Given the description of an element on the screen output the (x, y) to click on. 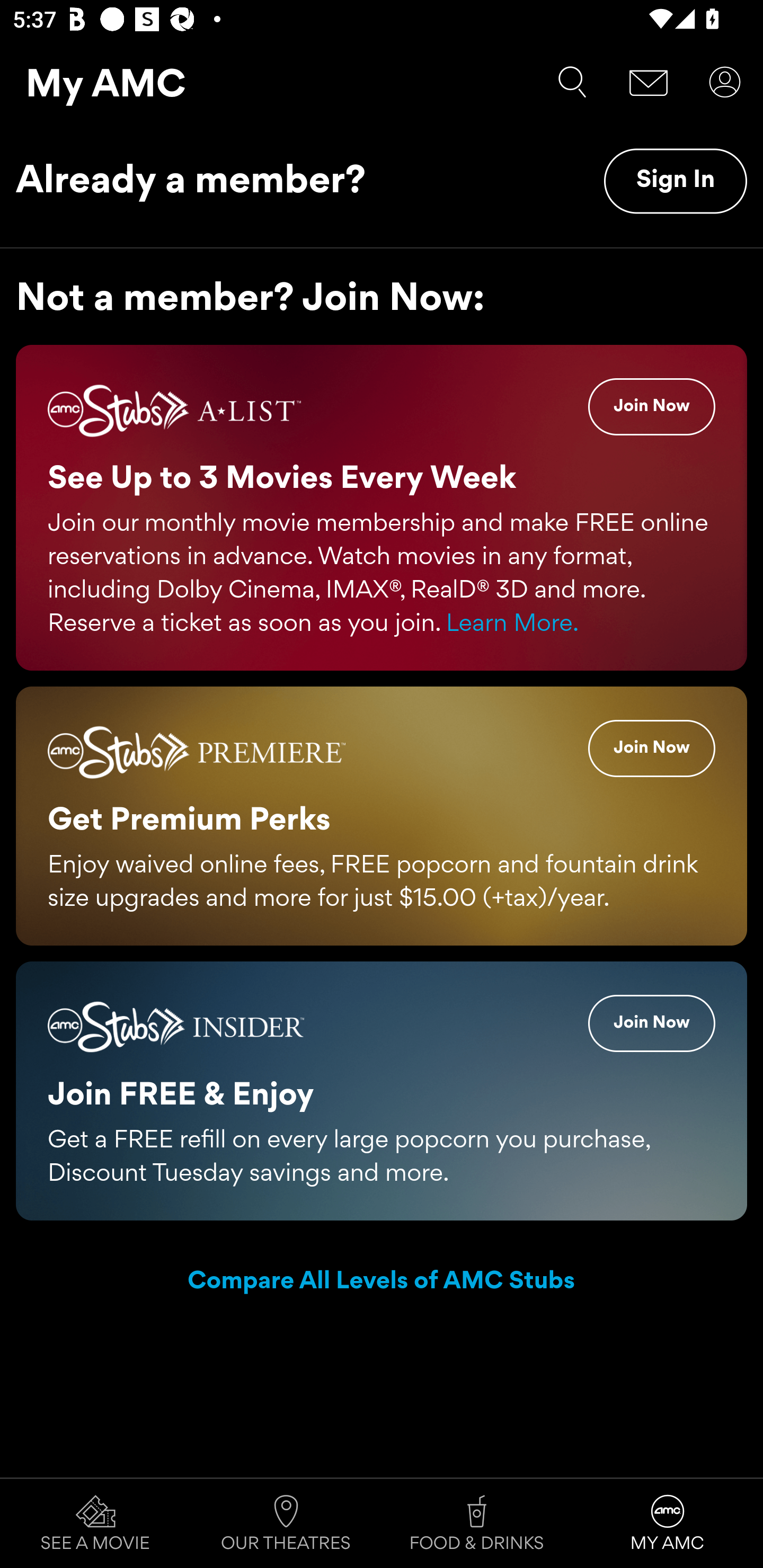
Search (572, 82)
Message Center (648, 82)
User Account (724, 82)
Sign In (675, 180)
A-List Join Now (651, 406)
Premiere Join Now (651, 748)
Insider Join Now (651, 1022)
Compare All Levels of AMC Stubs (381, 1282)
SEE A MOVIE
Tab 1 of 4 (95, 1523)
OUR THEATRES
Tab 2 of 4 (285, 1523)
FOOD & DRINKS
Tab 3 of 4 (476, 1523)
MY AMC
Tab 4 of 4 (667, 1523)
